Given the description of an element on the screen output the (x, y) to click on. 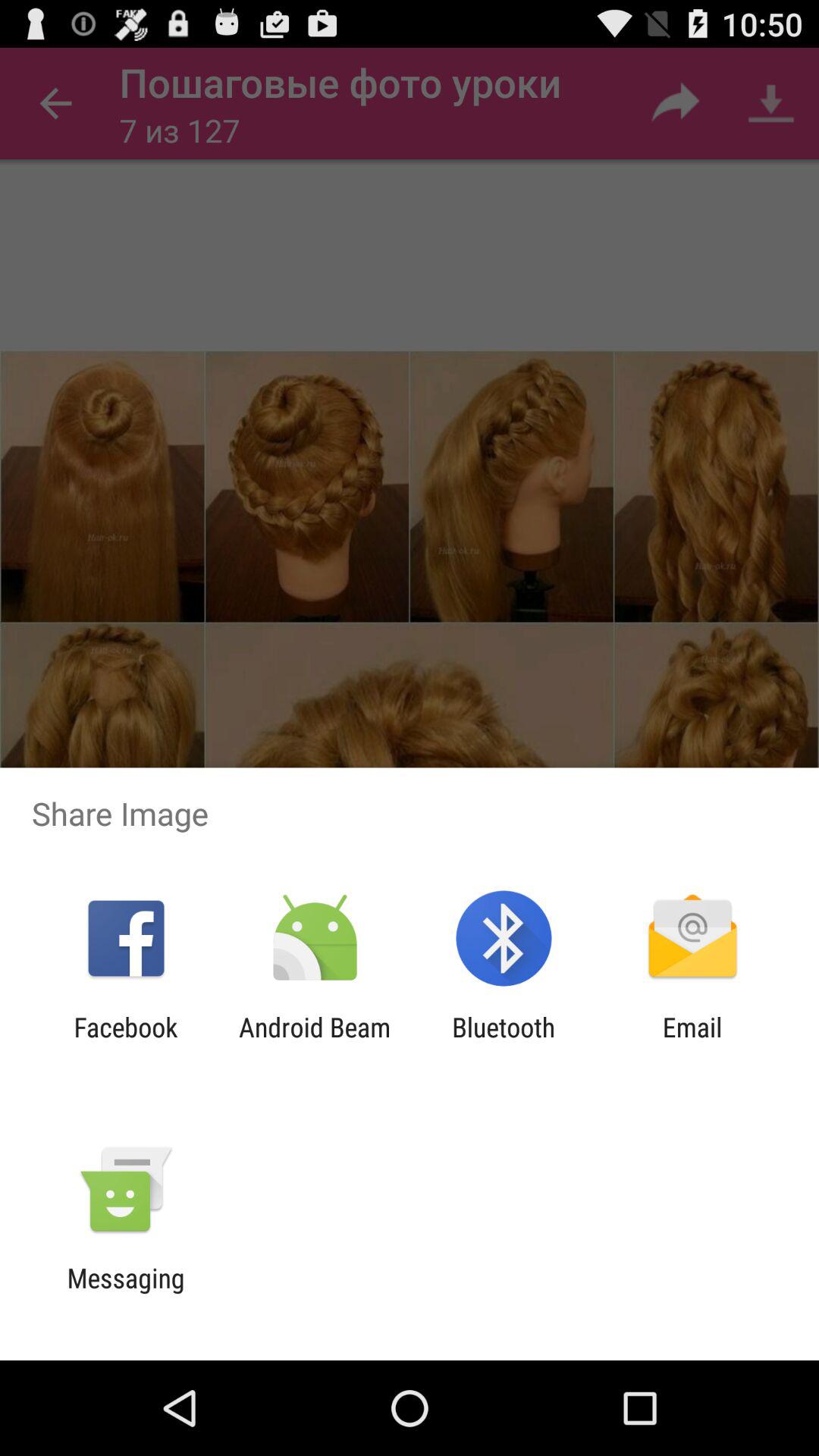
choose item to the right of bluetooth item (692, 1042)
